Given the description of an element on the screen output the (x, y) to click on. 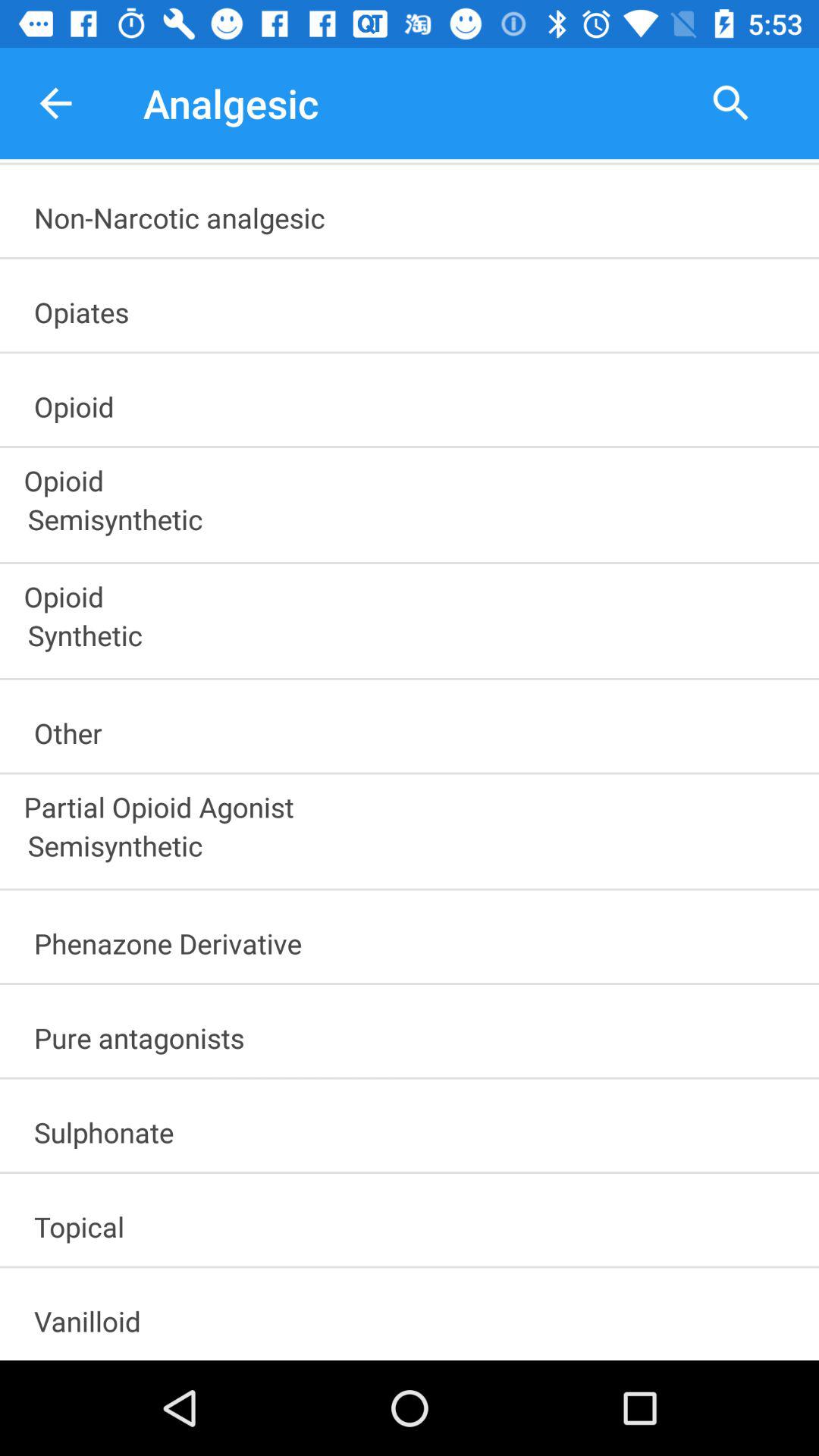
select item above the opioid (416, 307)
